Given the description of an element on the screen output the (x, y) to click on. 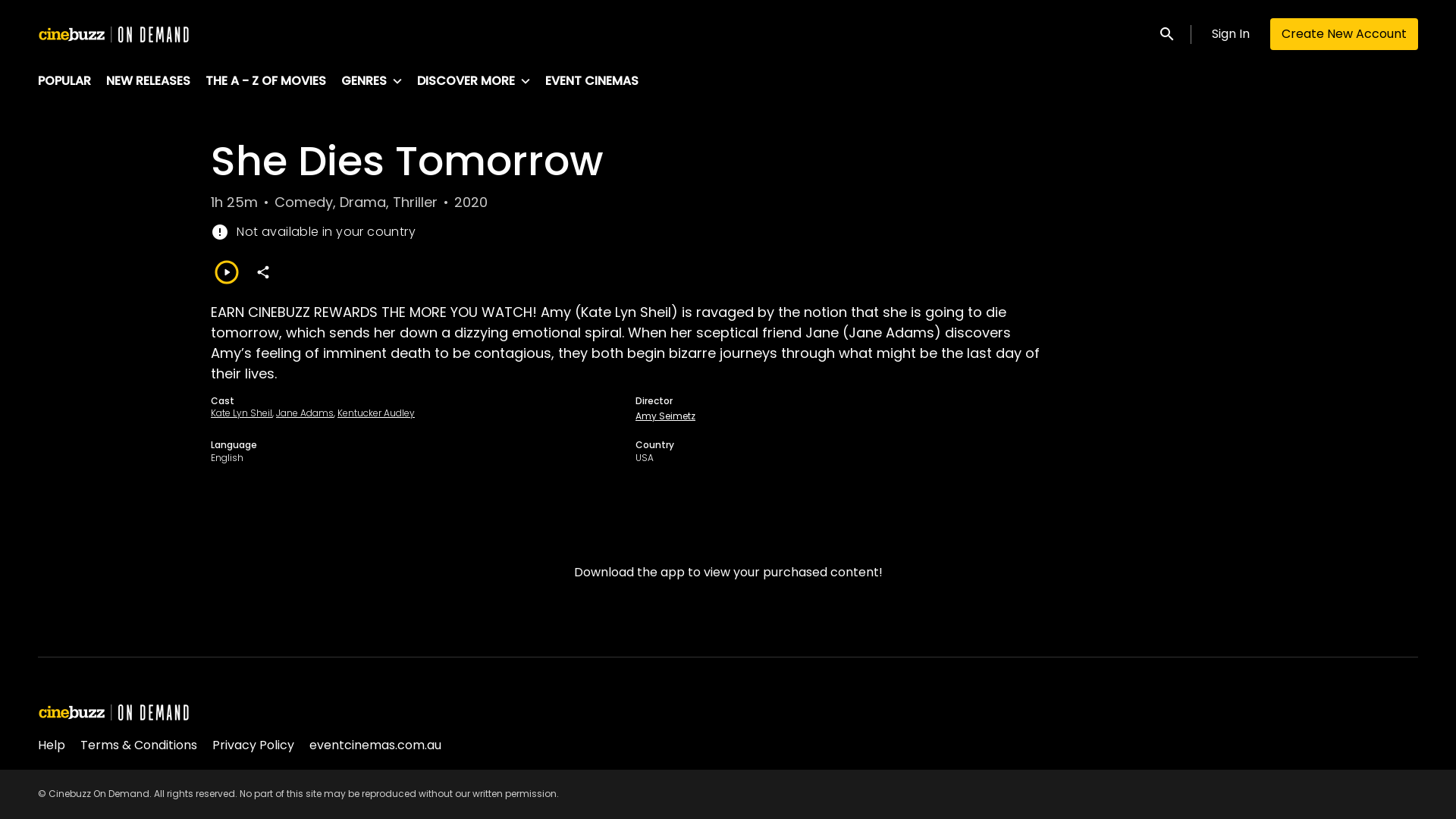
Amy Seimetz Element type: text (665, 415)
EVENT CINEMAS Element type: text (591, 82)
eventcinemas.com.au Element type: text (375, 745)
Cinebuzz On Demand Element type: text (113, 34)
POPULAR Element type: text (64, 82)
Submit search Element type: text (1153, 33)
Privacy Policy Element type: text (253, 745)
Create New Account Element type: text (1344, 34)
NEW RELEASES Element type: text (148, 82)
Terms & Conditions Element type: text (138, 745)
Sign In Element type: text (1230, 34)
THE A - Z OF MOVIES Element type: text (265, 82)
Kate Lyn Sheil Element type: text (241, 412)
Kentucker Audley Element type: text (375, 412)
Jane Adams Element type: text (304, 412)
Help Element type: text (51, 745)
DISCOVER MORE Element type: text (481, 82)
GENRES Element type: text (379, 82)
